Given the description of an element on the screen output the (x, y) to click on. 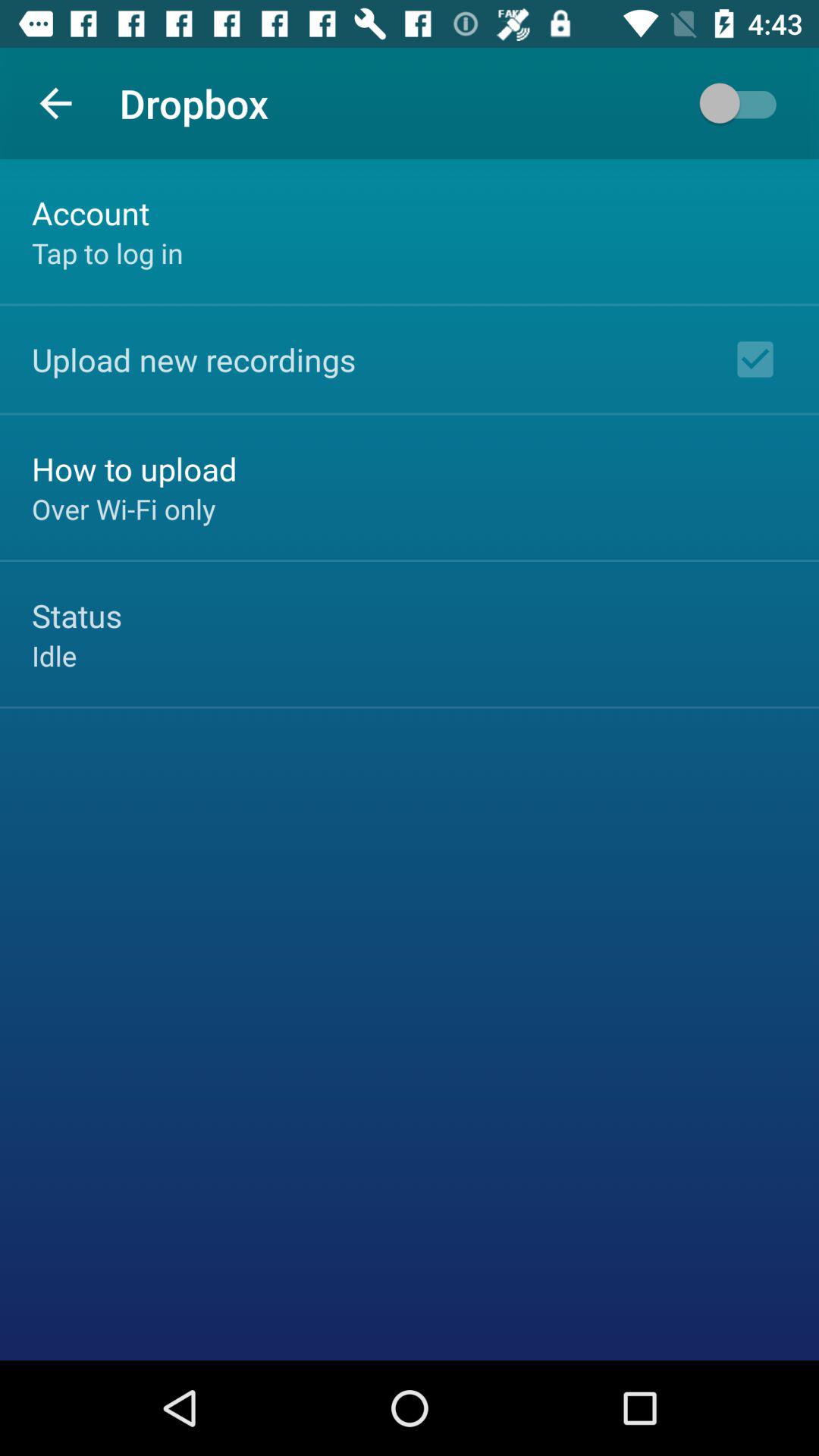
open item below the tap to log (193, 359)
